Given the description of an element on the screen output the (x, y) to click on. 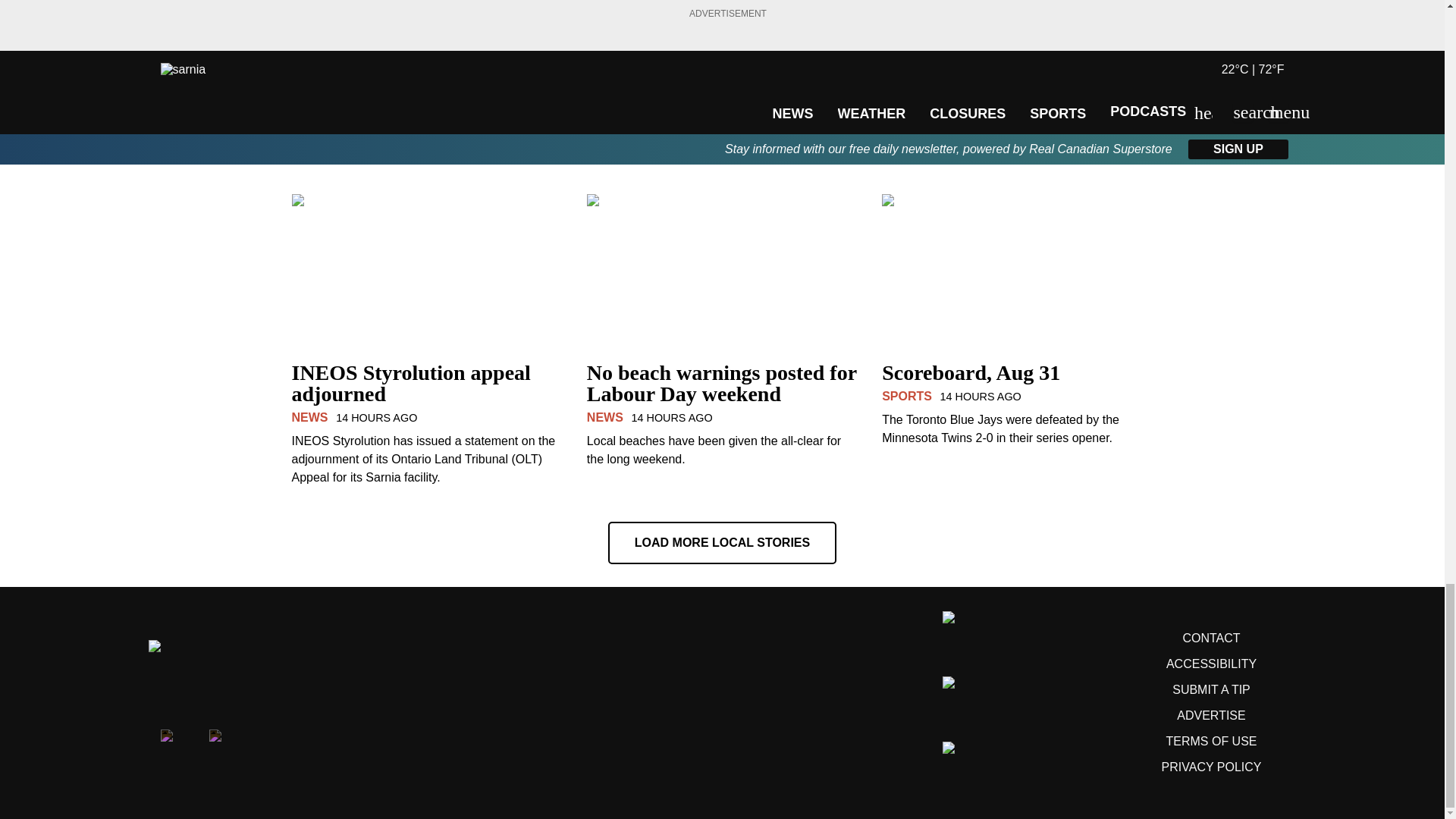
NEWS (604, 66)
UPDATE: Diesel leak temporarily closes Blue Water Bridge (426, 53)
NEWS (309, 88)
Fisher-Price toy recalled due to choking hazard (721, 42)
